Given the description of an element on the screen output the (x, y) to click on. 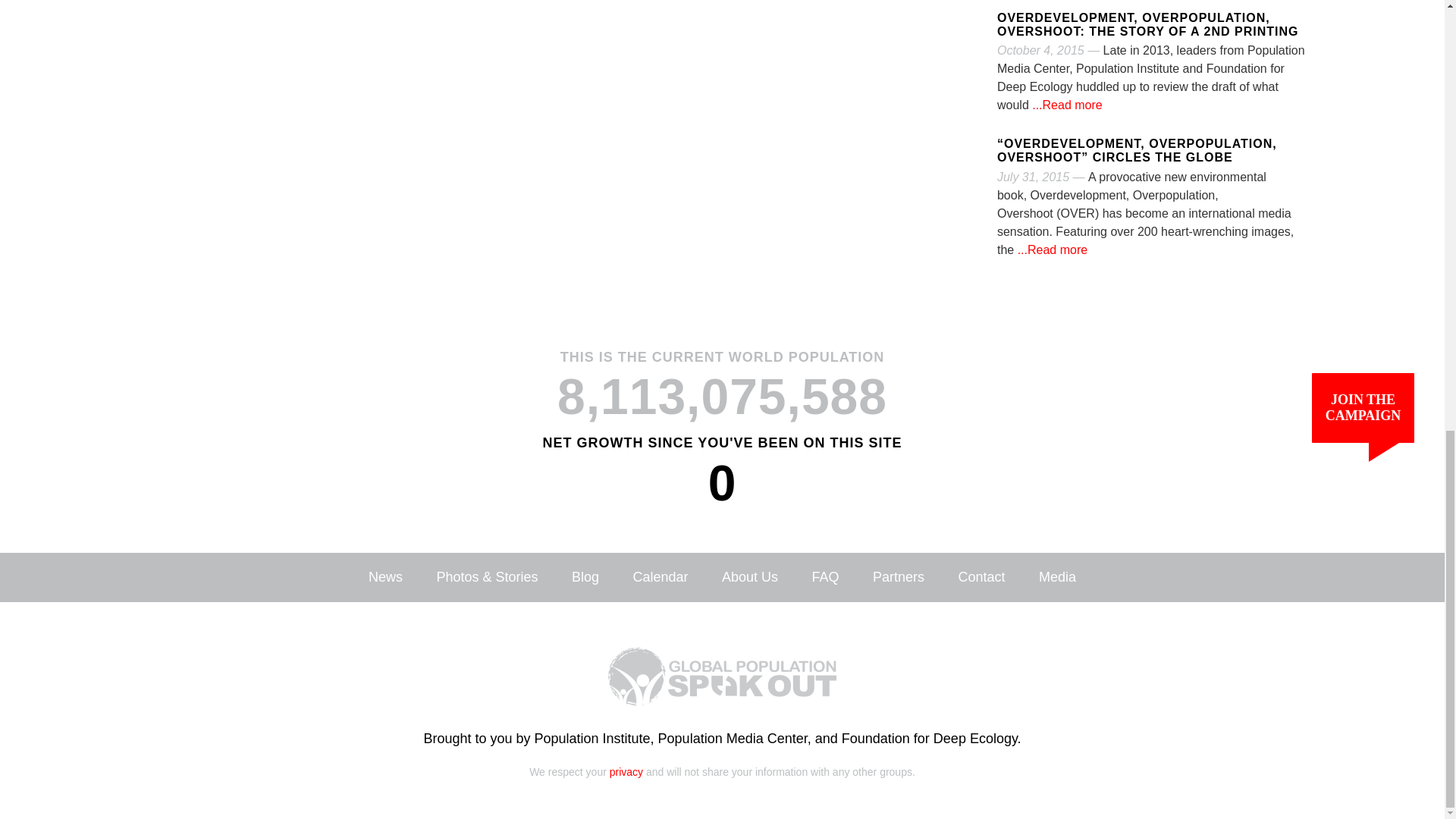
Contact (981, 576)
Media (1057, 576)
Calendar (659, 576)
About Us (749, 576)
Partners (898, 576)
Population Institute (591, 738)
FAQ (824, 576)
News (385, 576)
Blog (585, 576)
...Read more (1065, 104)
